Given the description of an element on the screen output the (x, y) to click on. 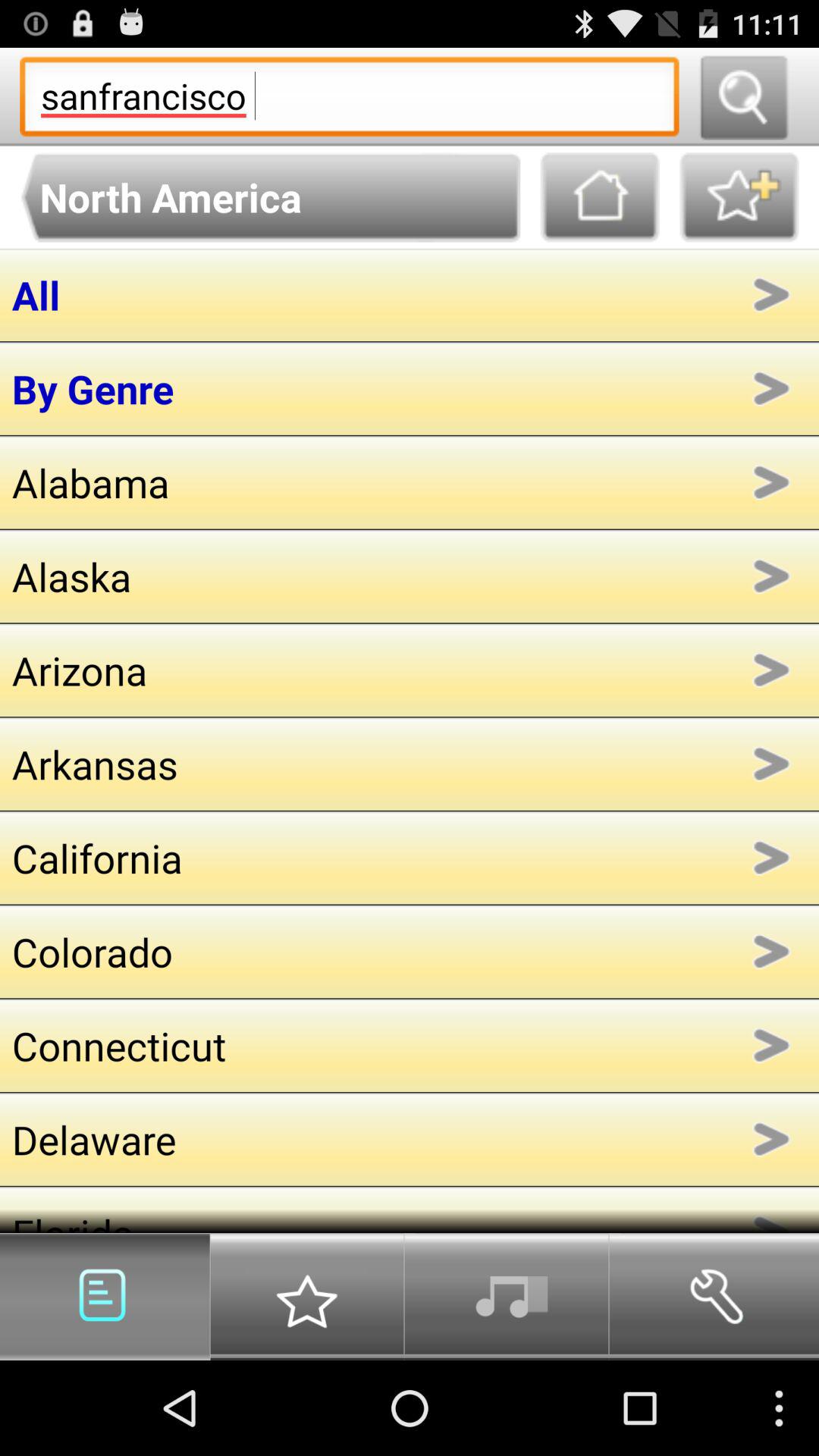
search button (743, 96)
